Given the description of an element on the screen output the (x, y) to click on. 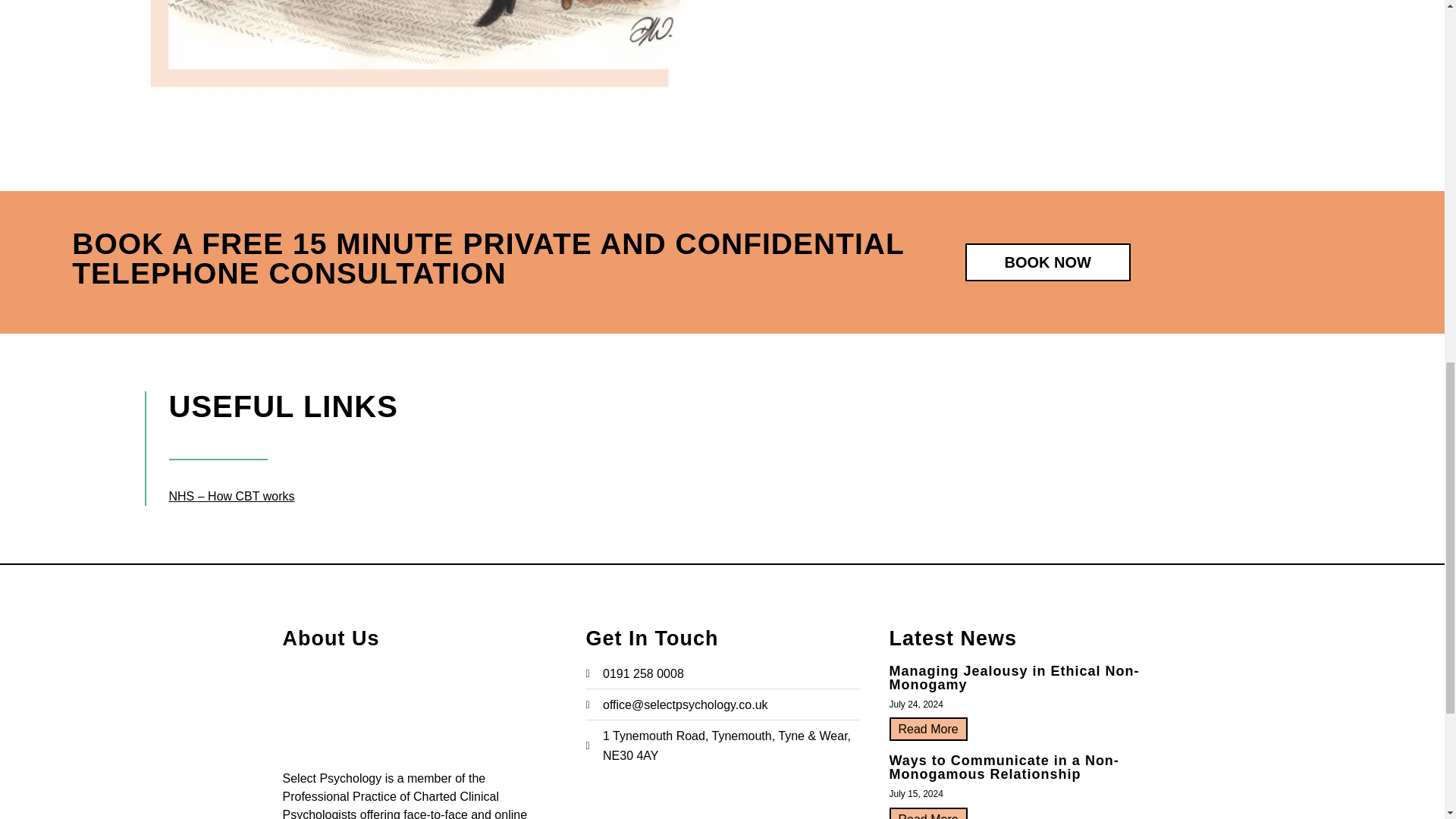
SELECT-PSYCHOLOGY-IMAGE-01 (417, 45)
